Given the description of an element on the screen output the (x, y) to click on. 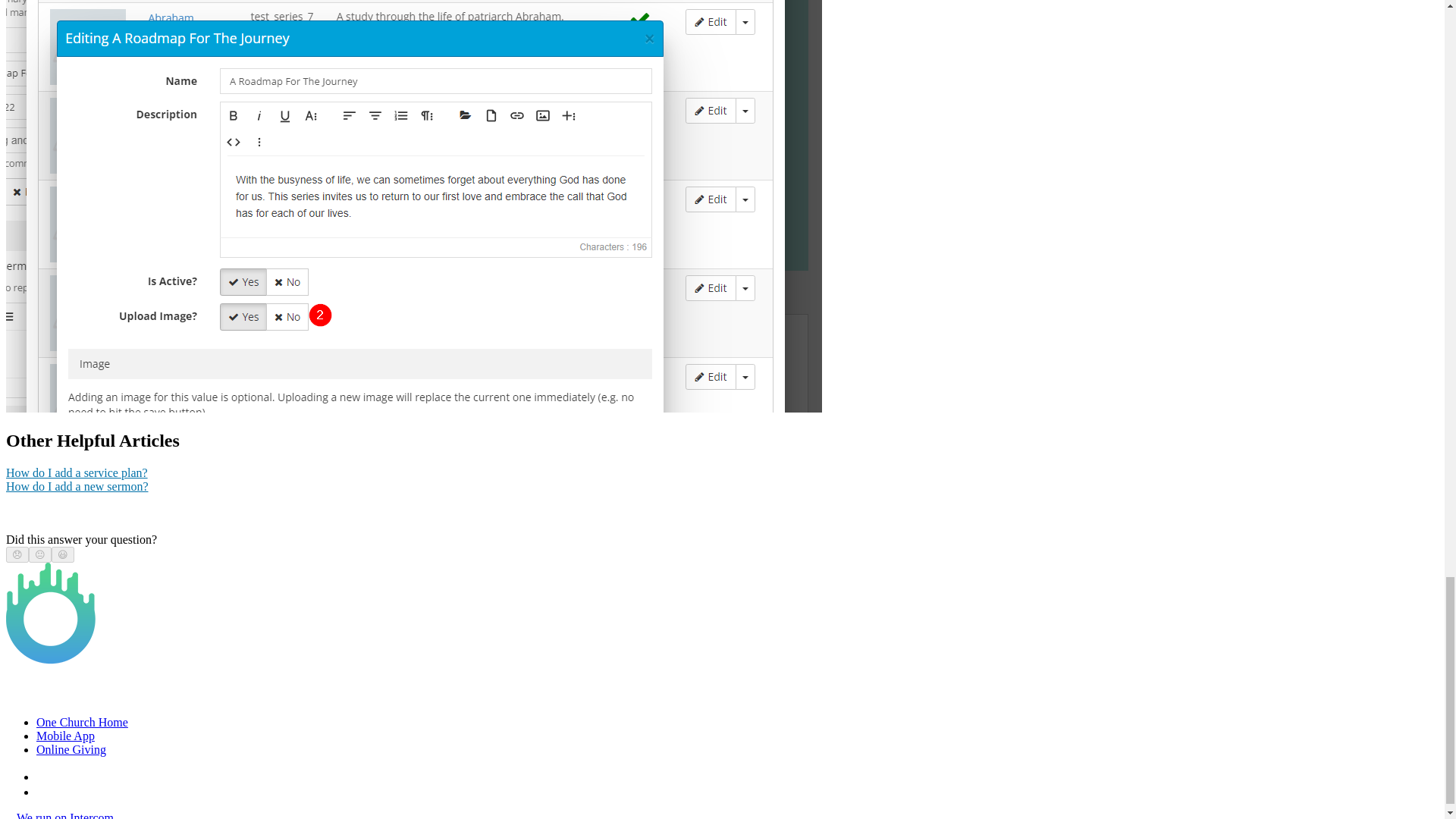
Smiley (63, 554)
Neutral (39, 554)
Online Giving (71, 748)
How do I add a new sermon? (76, 486)
One Church Home (82, 721)
How do I add a service plan? (76, 472)
Disappointed (17, 554)
Mobile App (65, 735)
